Given the description of an element on the screen output the (x, y) to click on. 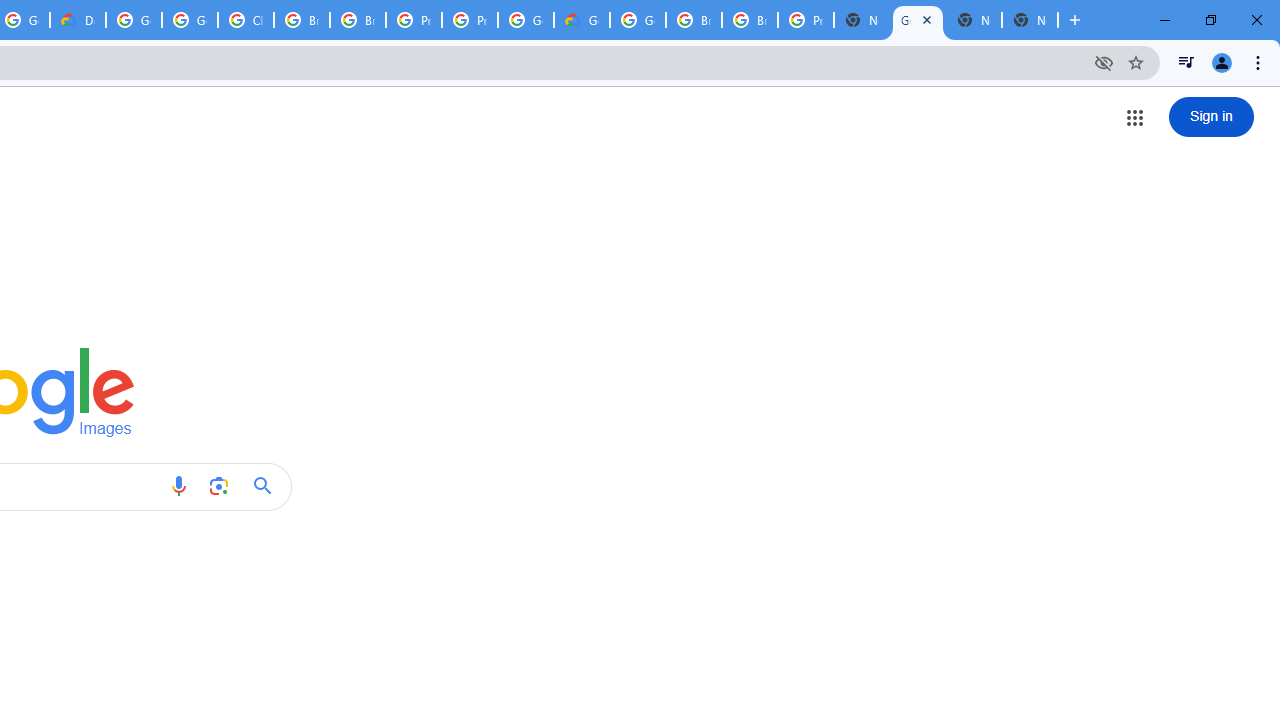
Google Images (917, 20)
New Tab (1030, 20)
Browse Chrome as a guest - Computer - Google Chrome Help (693, 20)
Google Cloud Platform (637, 20)
